Given the description of an element on the screen output the (x, y) to click on. 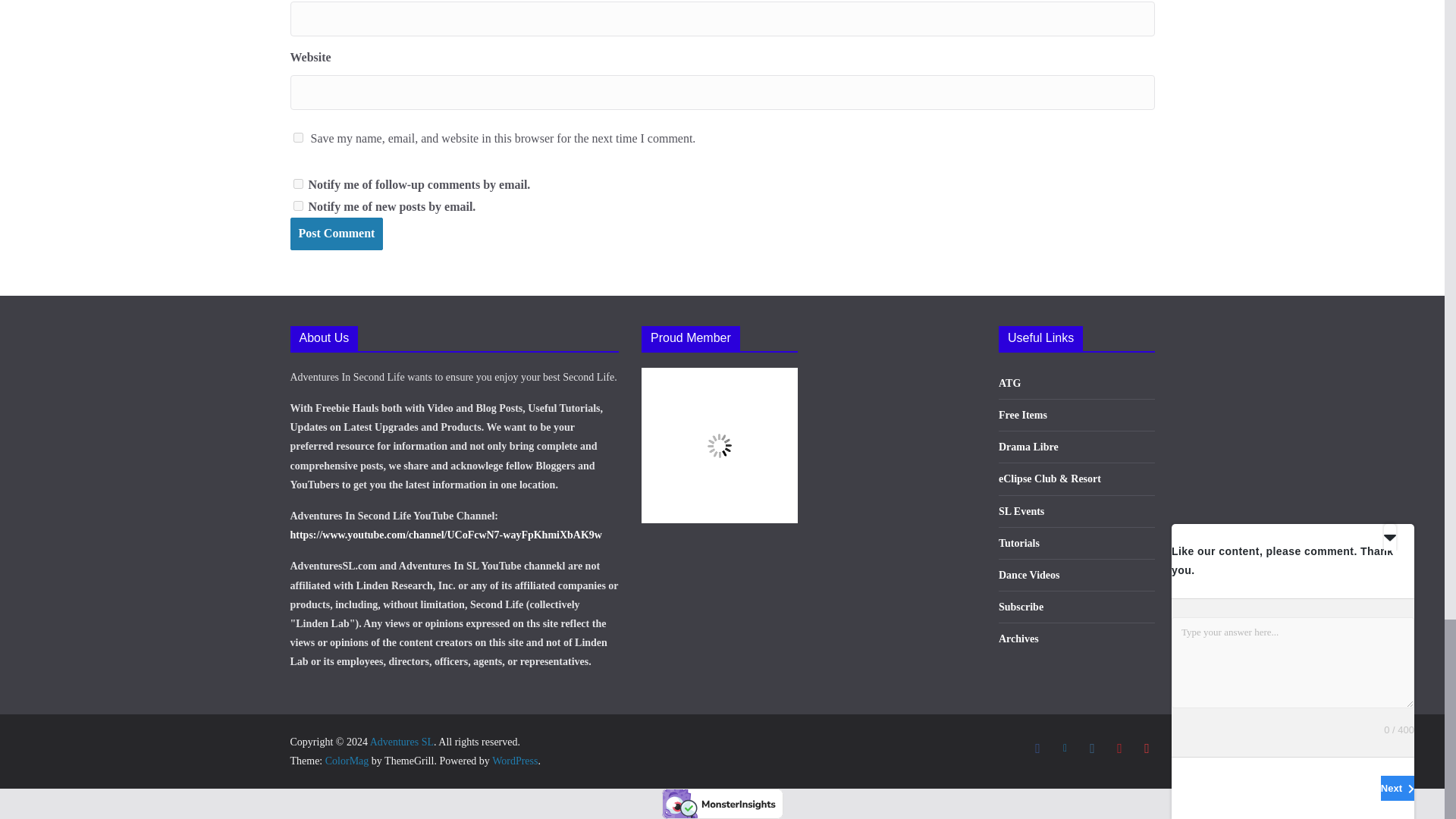
Post Comment (335, 233)
yes (297, 137)
subscribe (297, 184)
subscribe (297, 205)
